Given the description of an element on the screen output the (x, y) to click on. 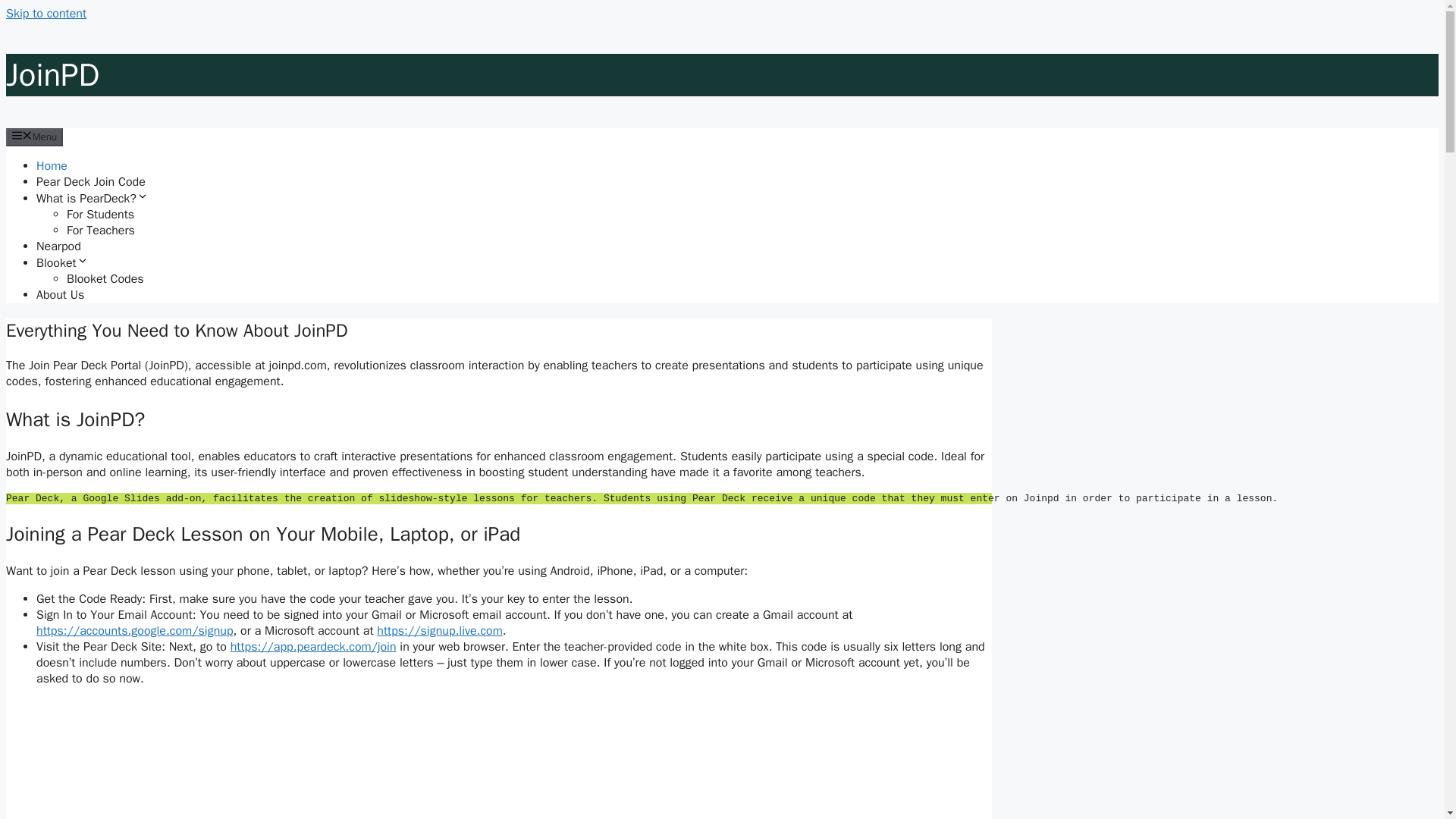
Blooket Codes (105, 278)
What is PearDeck? (92, 198)
Menu (33, 136)
Home (51, 165)
JoinPD (52, 75)
Nearpod (58, 246)
About Us (60, 294)
Skip to content (45, 13)
Pear Deck Join Code (90, 181)
For Teachers (100, 230)
Skip to content (45, 13)
For Students (99, 214)
Blooket (62, 263)
